Given the description of an element on the screen output the (x, y) to click on. 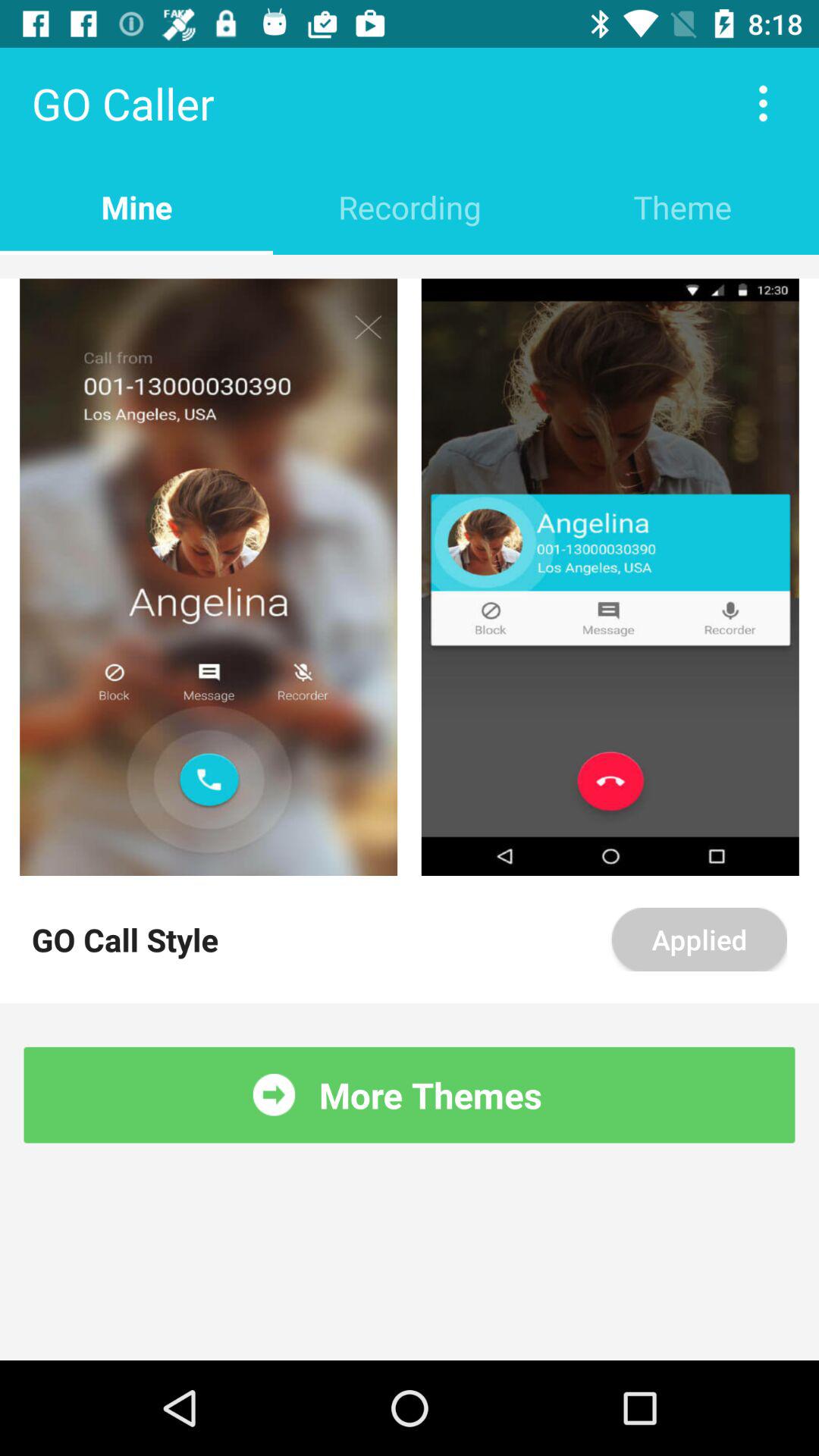
turn on icon at the top left corner (136, 206)
